Given the description of an element on the screen output the (x, y) to click on. 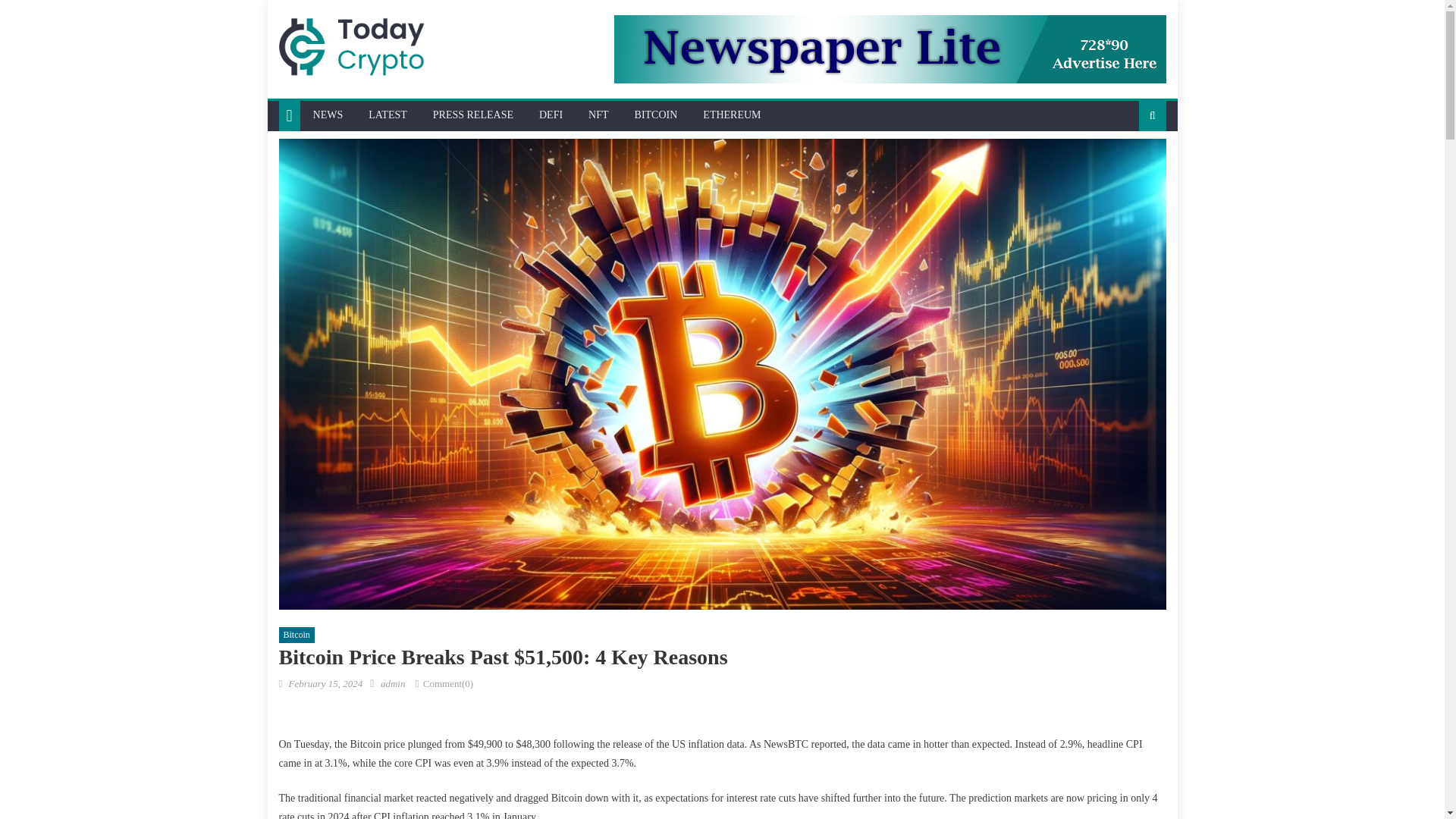
LATEST (387, 114)
Bitcoin (296, 635)
February 15, 2024 (325, 683)
NFT (598, 114)
admin (393, 683)
PRESS RELEASE (473, 114)
NEWS (328, 114)
Search (1128, 165)
BITCOIN (655, 114)
DEFI (550, 114)
